Given the description of an element on the screen output the (x, y) to click on. 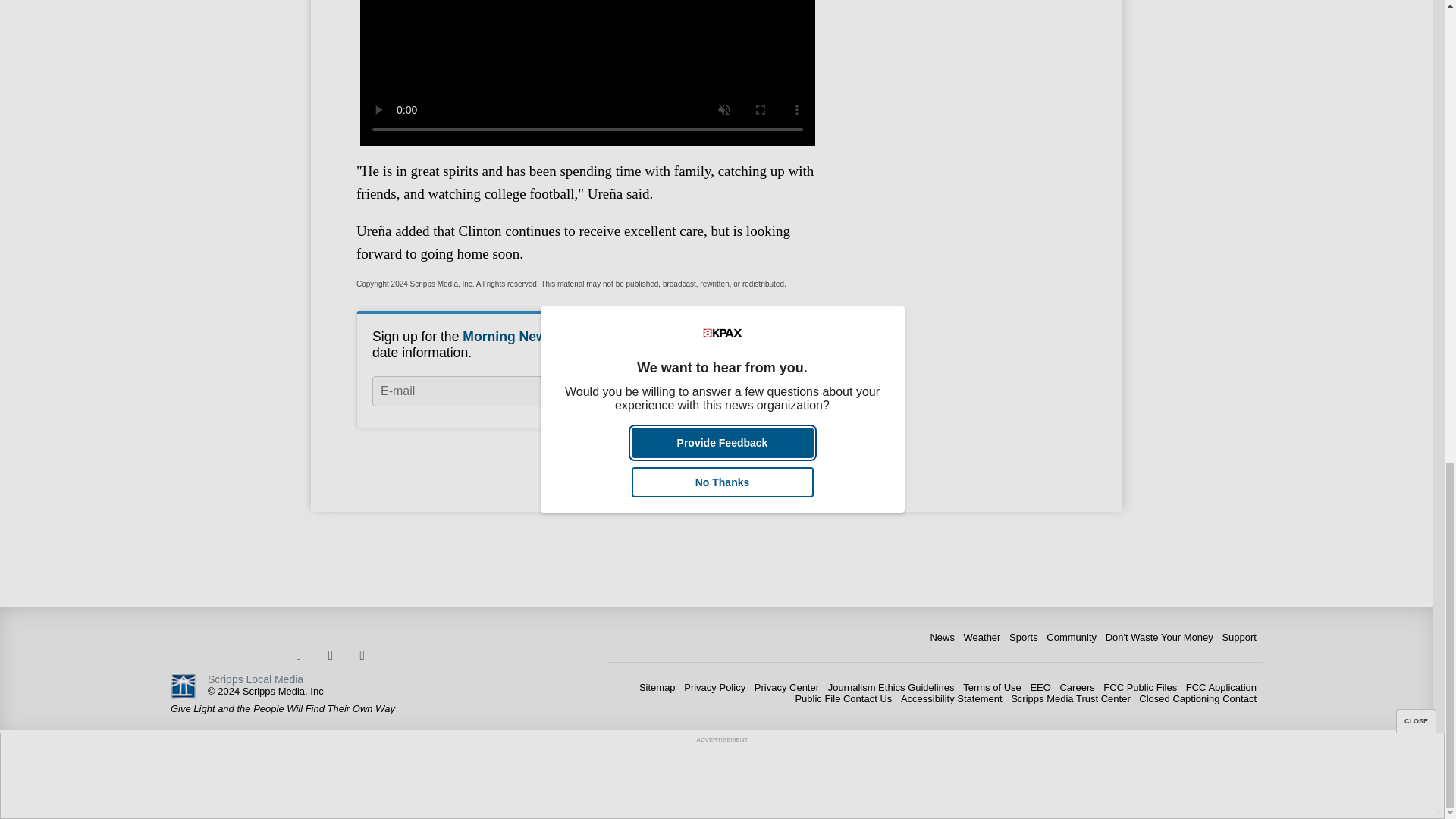
Submit (763, 390)
